Given the description of an element on the screen output the (x, y) to click on. 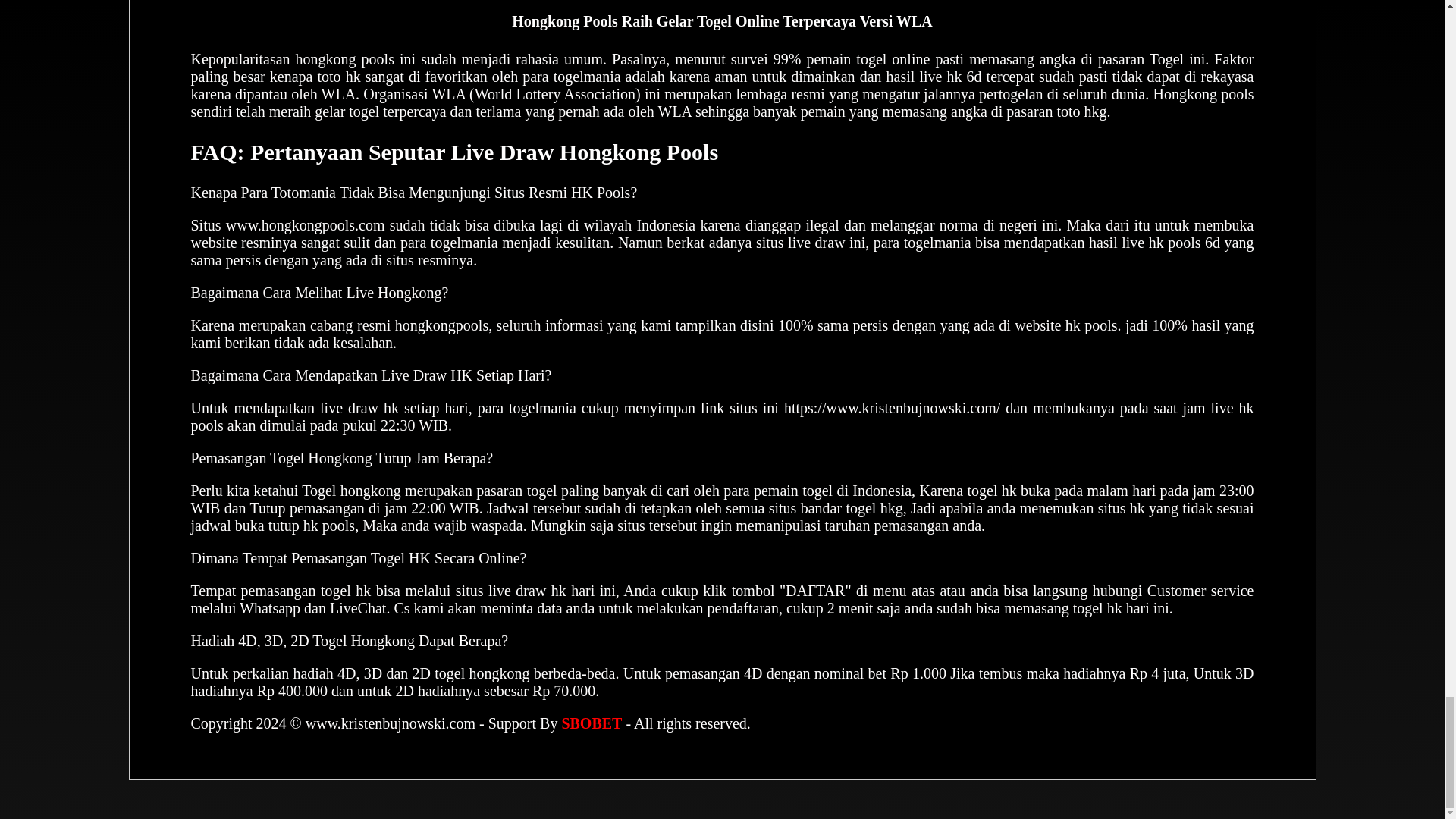
SBOBET (590, 723)
